Given the description of an element on the screen output the (x, y) to click on. 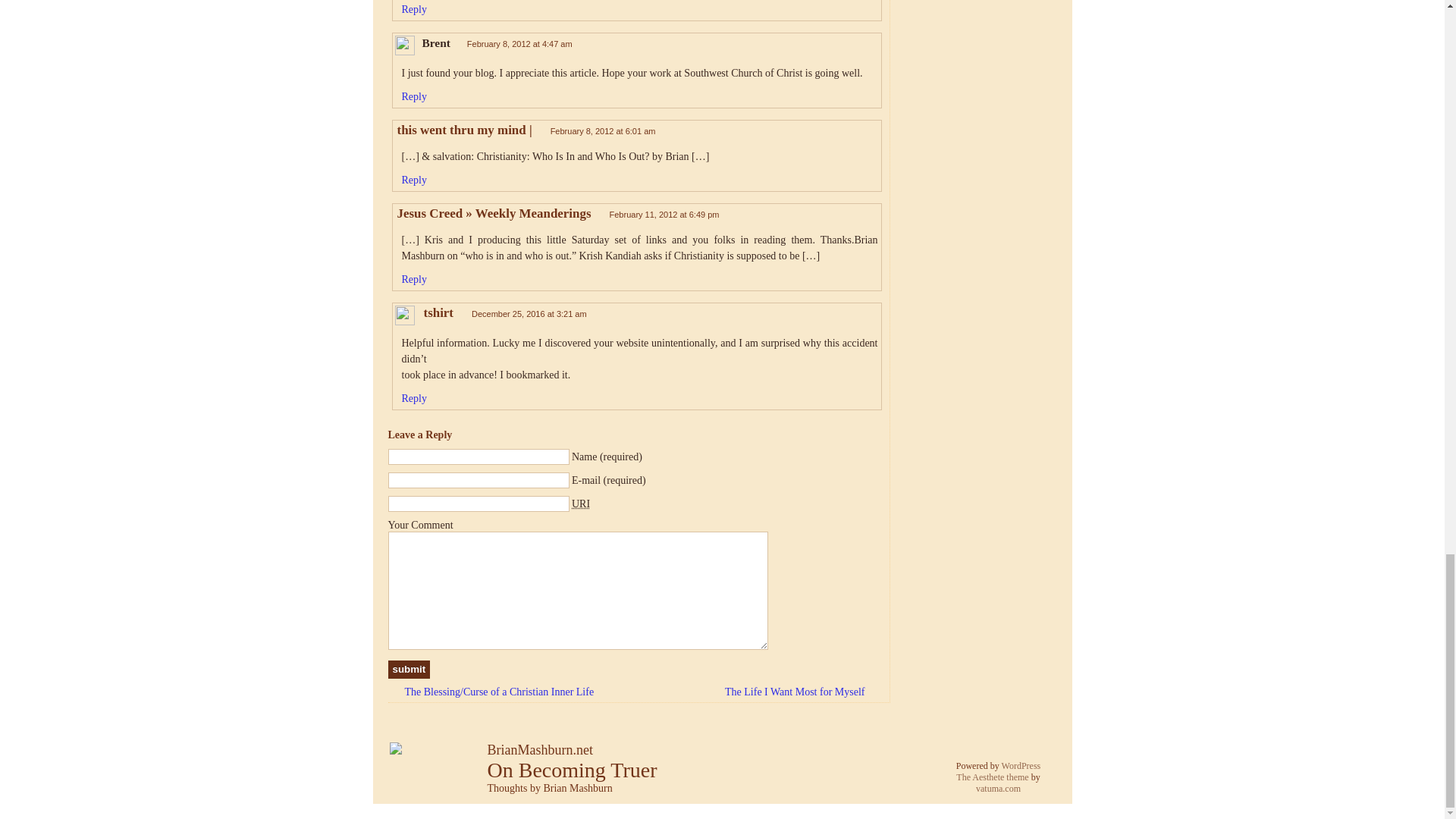
February 8, 2012 at 4:47 am (519, 43)
Reply (413, 398)
February 8, 2012 at 6:01 am (603, 131)
Reply (413, 279)
February 11, 2012 at 6:49 pm (664, 214)
The Life I Want Most for Myself (802, 692)
Reply (413, 179)
submit (409, 669)
submit (409, 669)
December 25, 2016 at 3:21 am (529, 313)
